Given the description of an element on the screen output the (x, y) to click on. 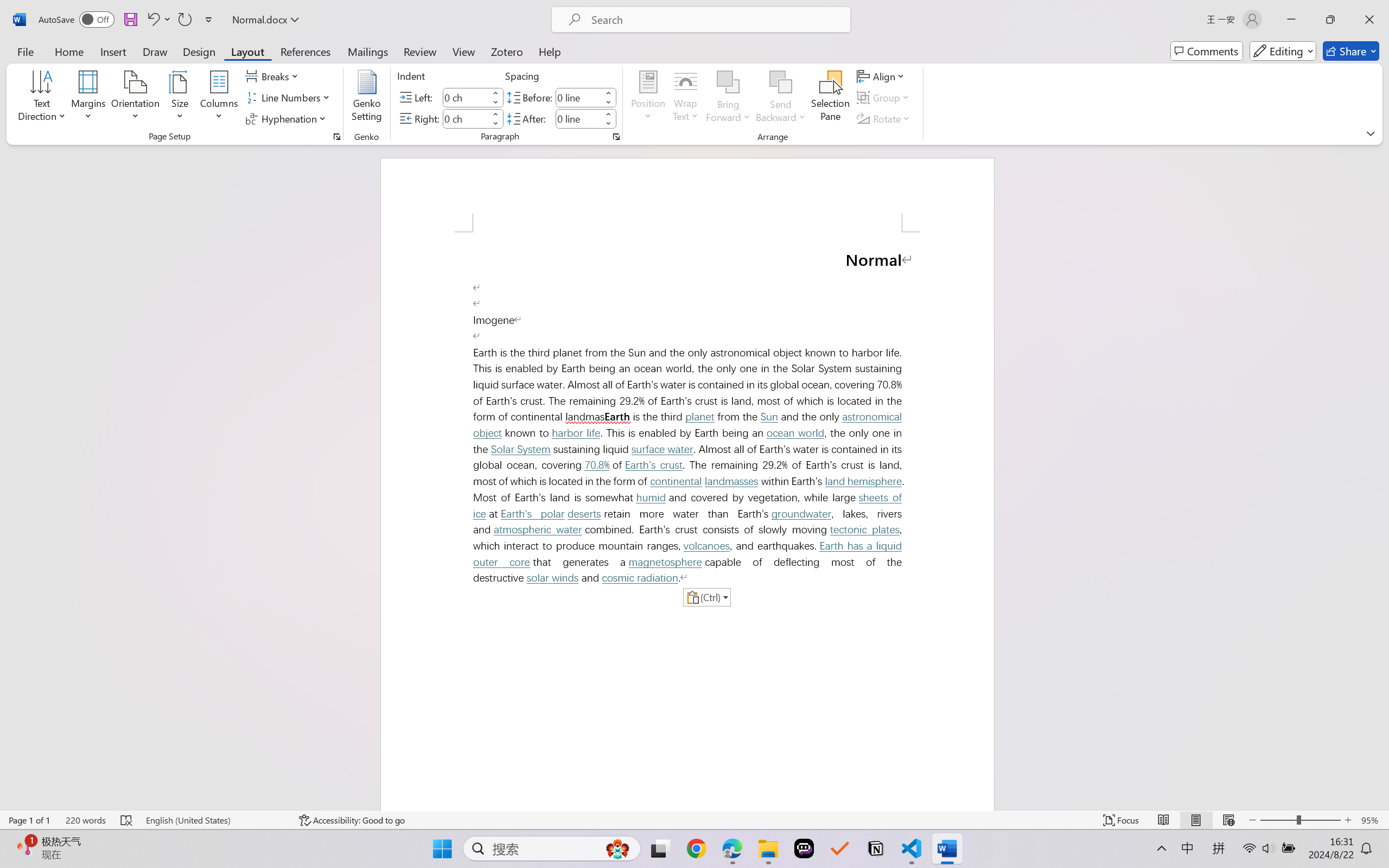
harbor life (575, 433)
Position (647, 97)
Group (884, 97)
Earth's crust (653, 465)
Undo Paste Destination Formatting (158, 19)
Rotate (884, 118)
Help (549, 51)
Text Direction (42, 97)
Selection Pane... (830, 97)
Bring Forward (728, 97)
